Given the description of an element on the screen output the (x, y) to click on. 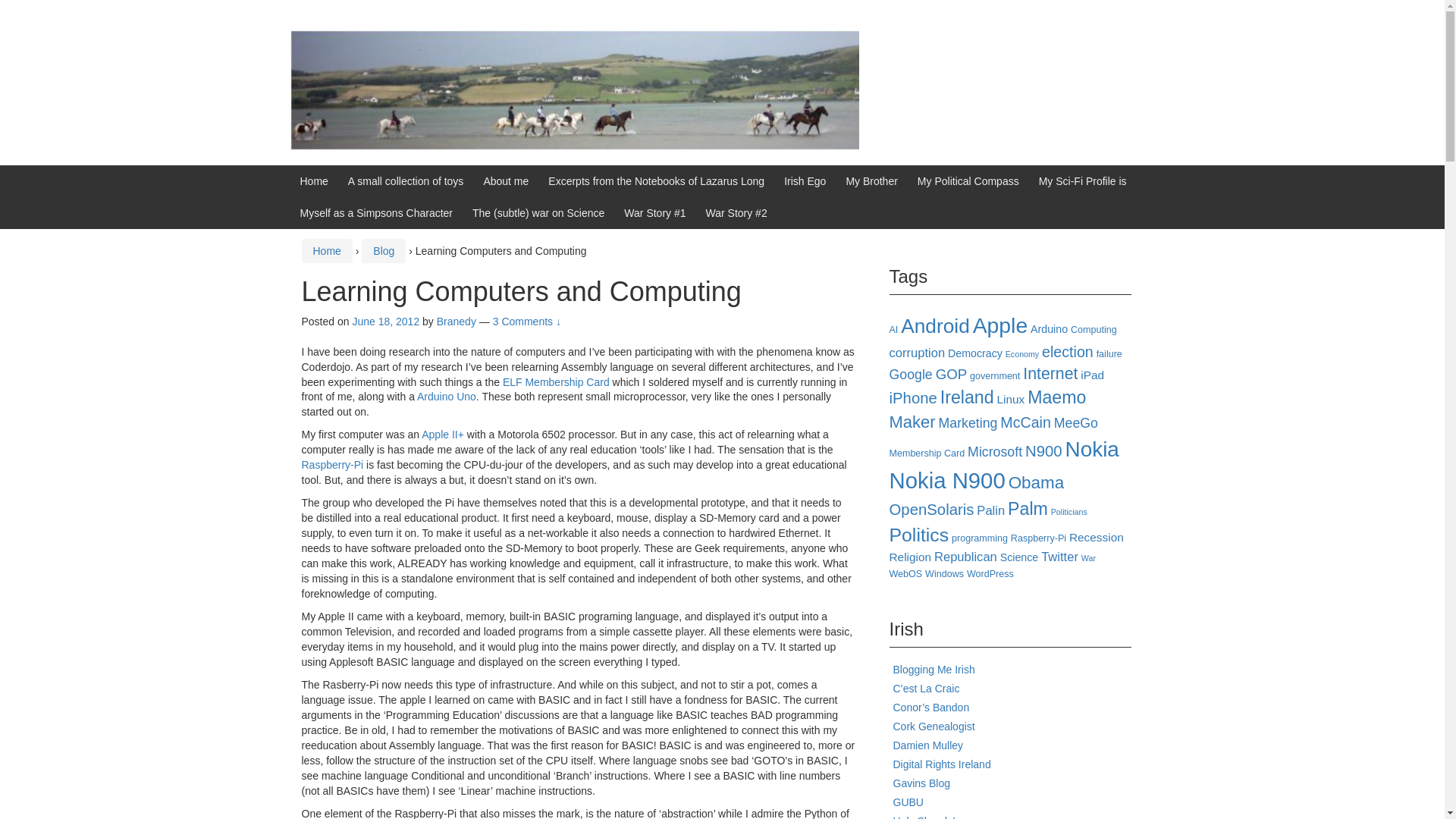
Myself as a Simpsons Character (375, 213)
Irish Ego (804, 181)
Home (326, 250)
My Sci-Fi Profile is (1082, 181)
3:32 pm (385, 321)
June 18, 2012 (385, 321)
Raspberry-Pi (332, 464)
My Political Compass (968, 181)
Excerpts from the Notebooks of Lazarus Long (656, 181)
ELF Membership Card (556, 381)
Blog (383, 250)
A small collection of toys (405, 181)
My Brother (870, 181)
Raspberry-Pi (332, 464)
View all posts by Branedy (456, 321)
